Given the description of an element on the screen output the (x, y) to click on. 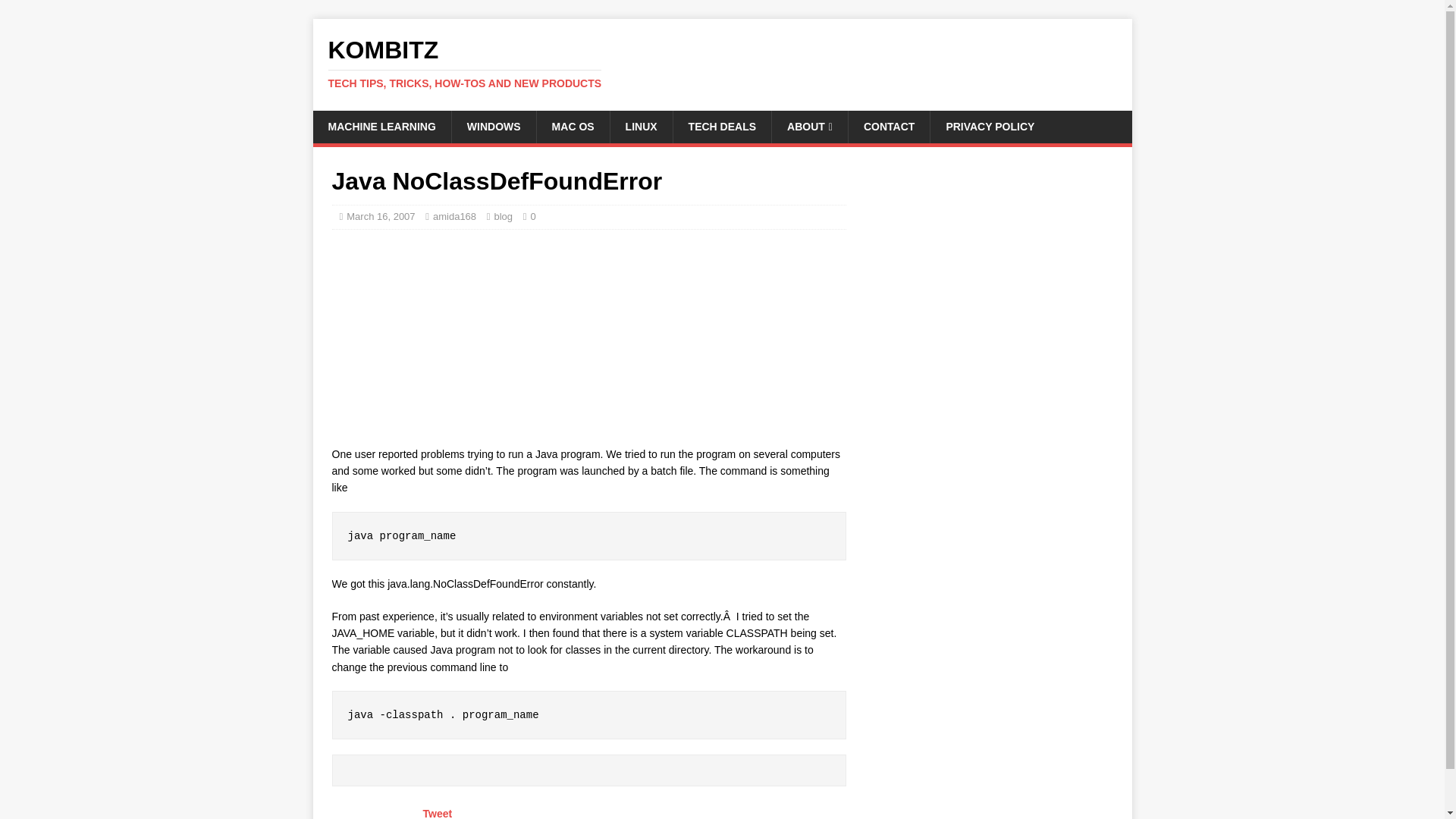
MAC OS (572, 126)
PRIVACY POLICY (989, 126)
blog (502, 215)
ABOUT (721, 63)
Tweet (809, 126)
TECH DEALS (437, 813)
CONTACT (721, 126)
WINDOWS (888, 126)
March 16, 2007 (493, 126)
